Given the description of an element on the screen output the (x, y) to click on. 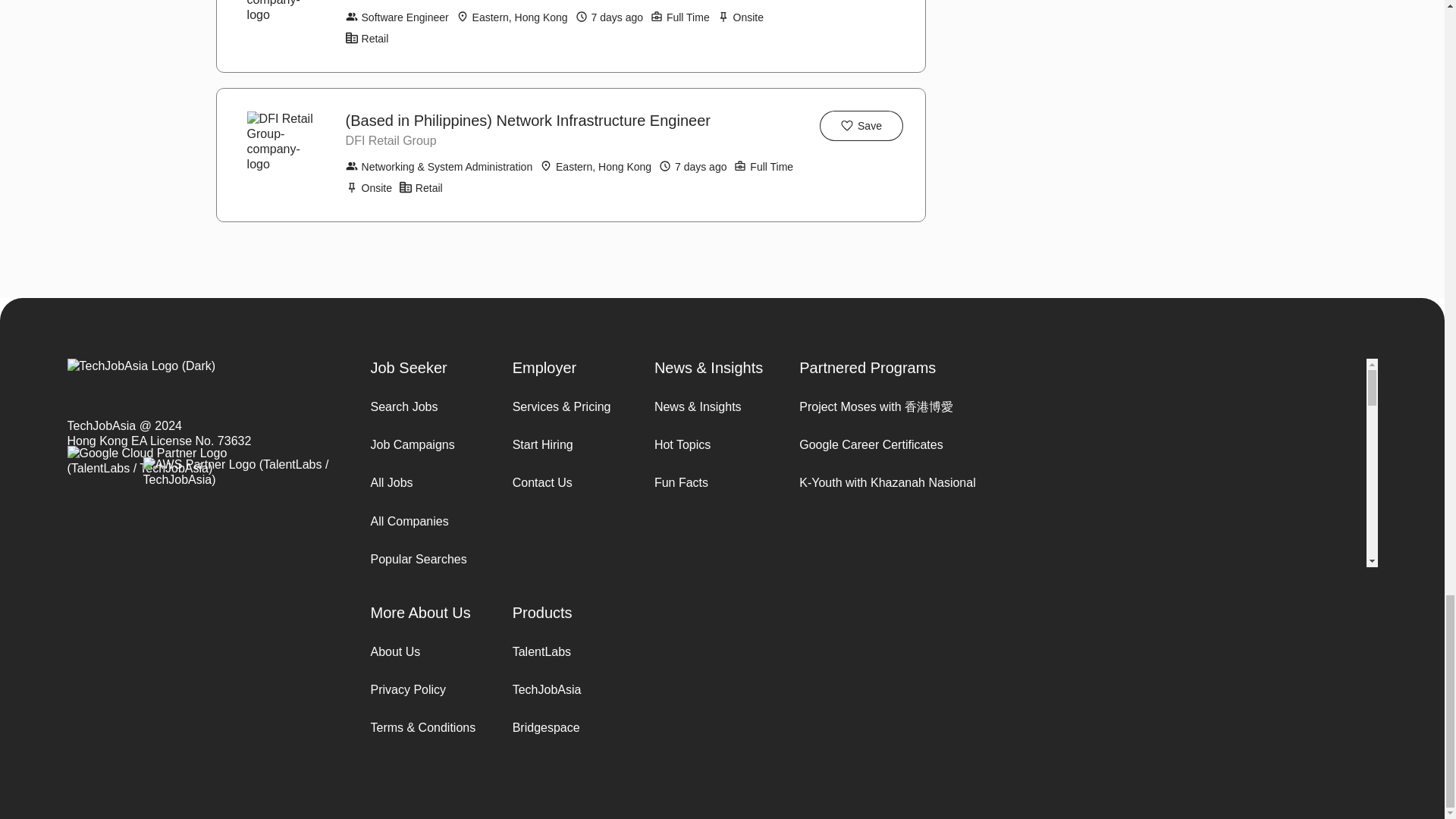
Save (861, 125)
